Given the description of an element on the screen output the (x, y) to click on. 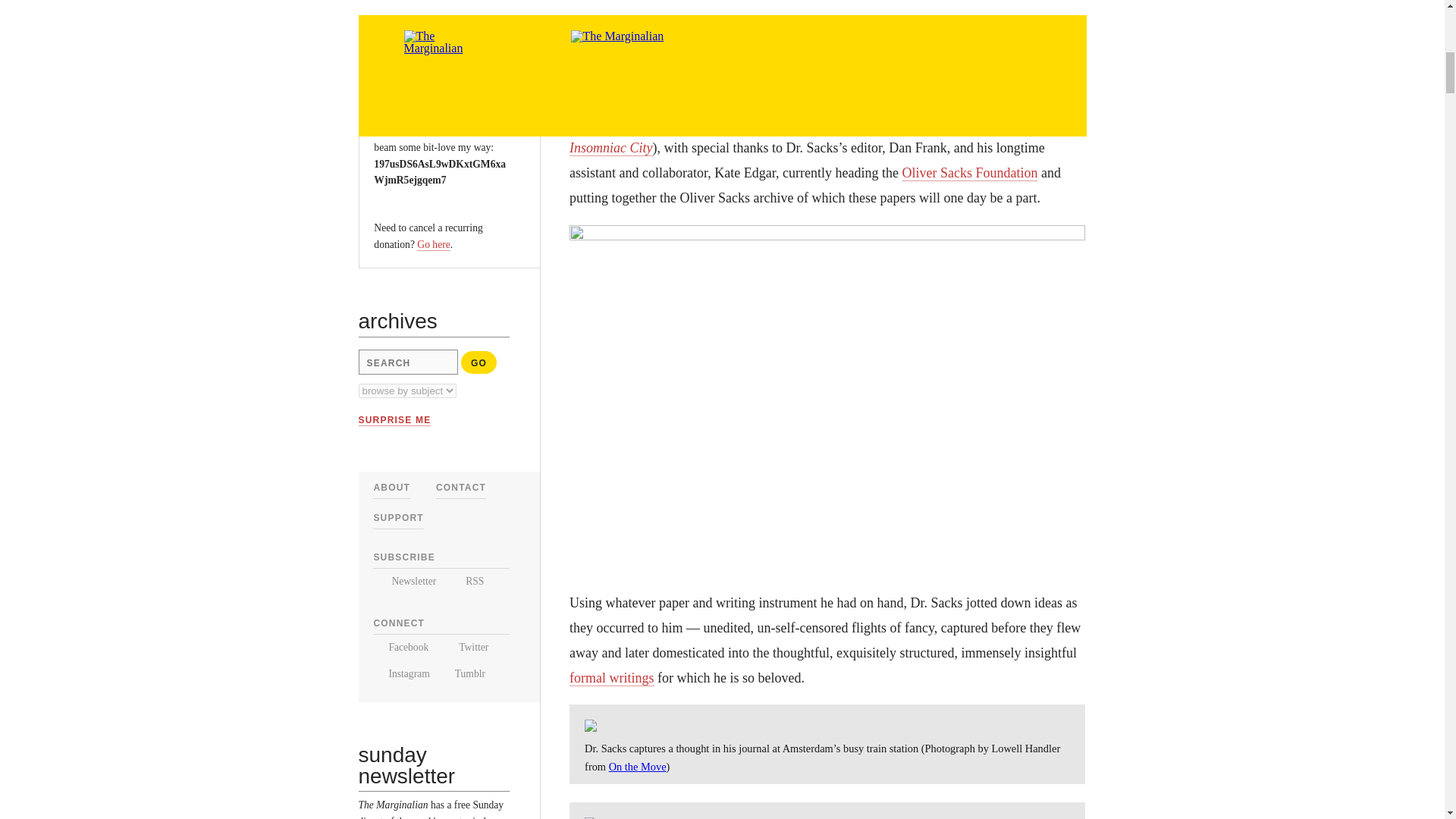
Go here (432, 244)
SUPPORT (397, 517)
Newsletter (403, 581)
Facebook (400, 646)
ABOUT (391, 487)
RSS (466, 581)
Go (478, 362)
SURPRISE ME (394, 419)
GIVE NOW (410, 53)
Go (478, 362)
